Given the description of an element on the screen output the (x, y) to click on. 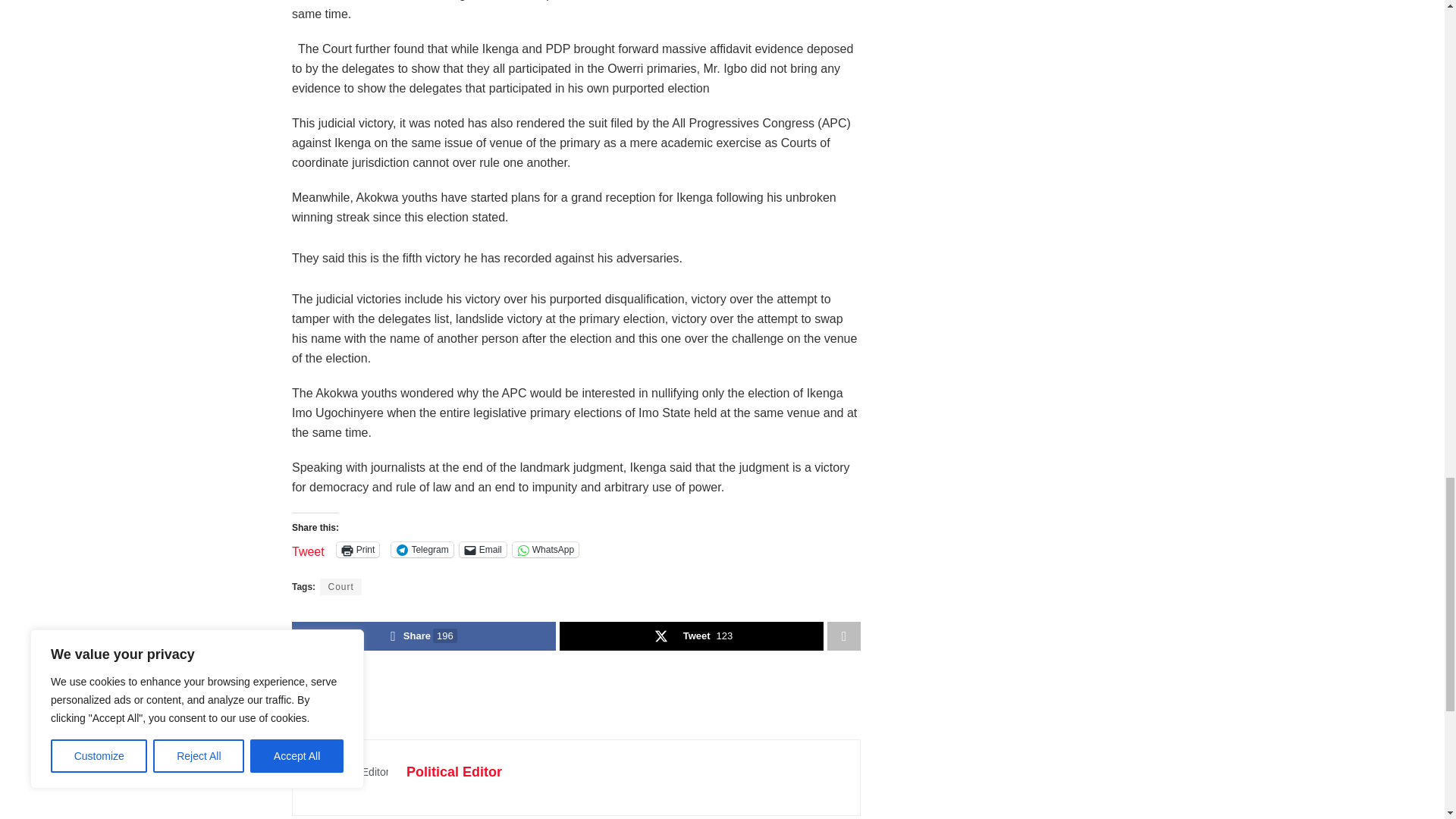
Click to share on WhatsApp (545, 549)
Click to share on Telegram (421, 549)
Click to email a link to a friend (483, 549)
Click to print (358, 549)
